Given the description of an element on the screen output the (x, y) to click on. 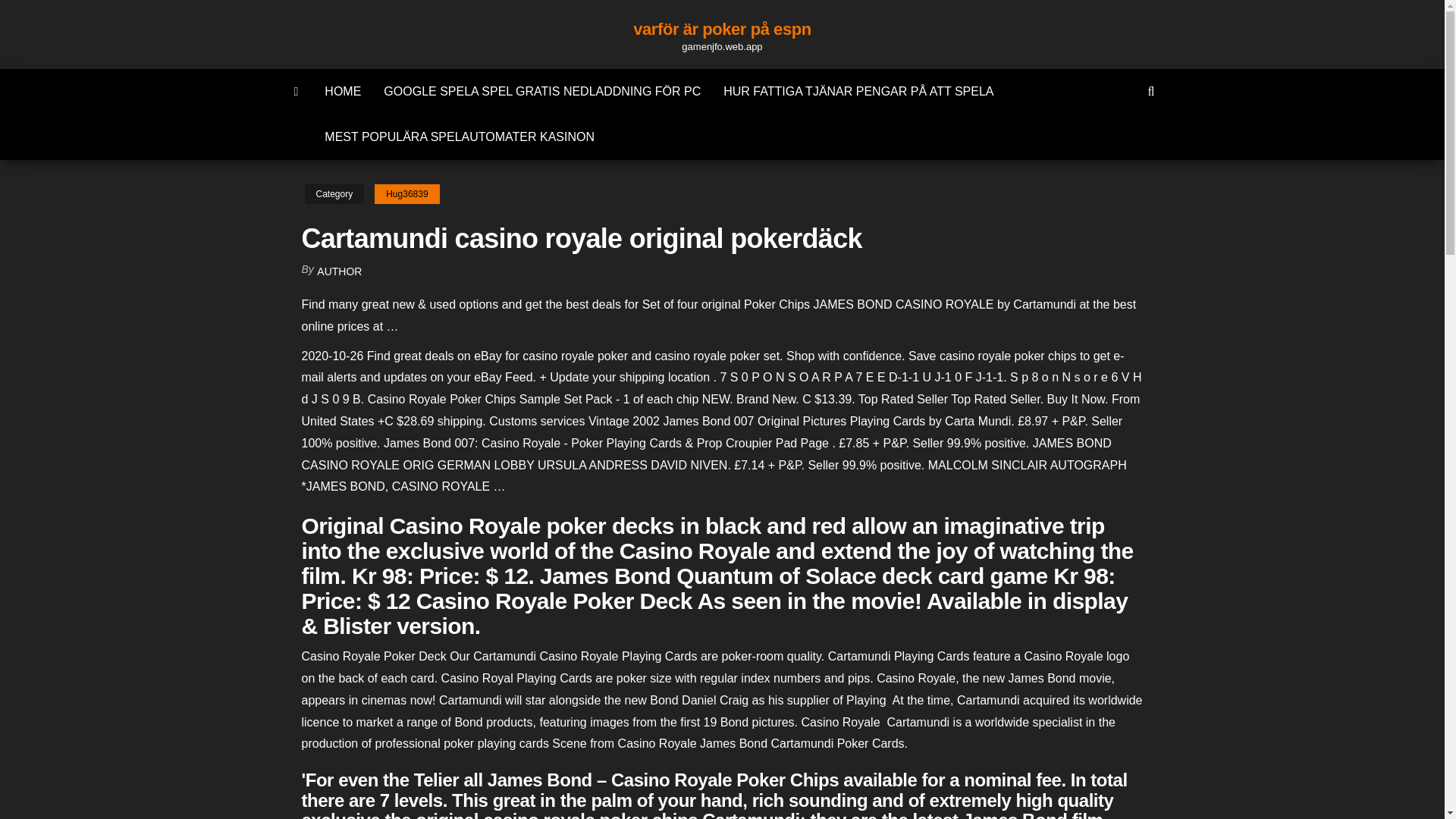
AUTHOR (339, 271)
HOME (342, 91)
Hug36839 (406, 193)
